Given the description of an element on the screen output the (x, y) to click on. 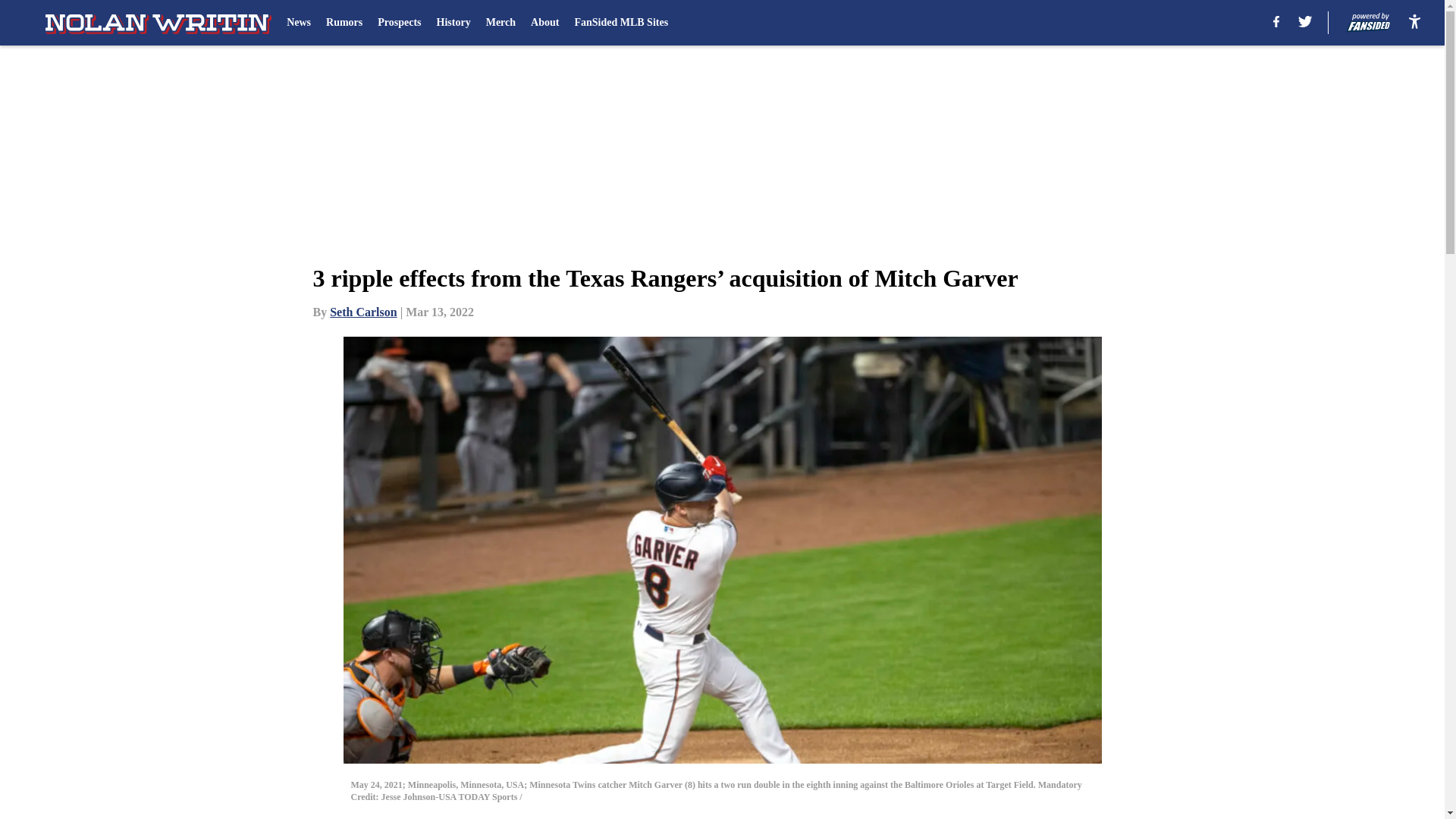
About (545, 22)
FanSided MLB Sites (620, 22)
News (298, 22)
Seth Carlson (363, 311)
Merch (500, 22)
Rumors (344, 22)
History (453, 22)
Prospects (398, 22)
